Given the description of an element on the screen output the (x, y) to click on. 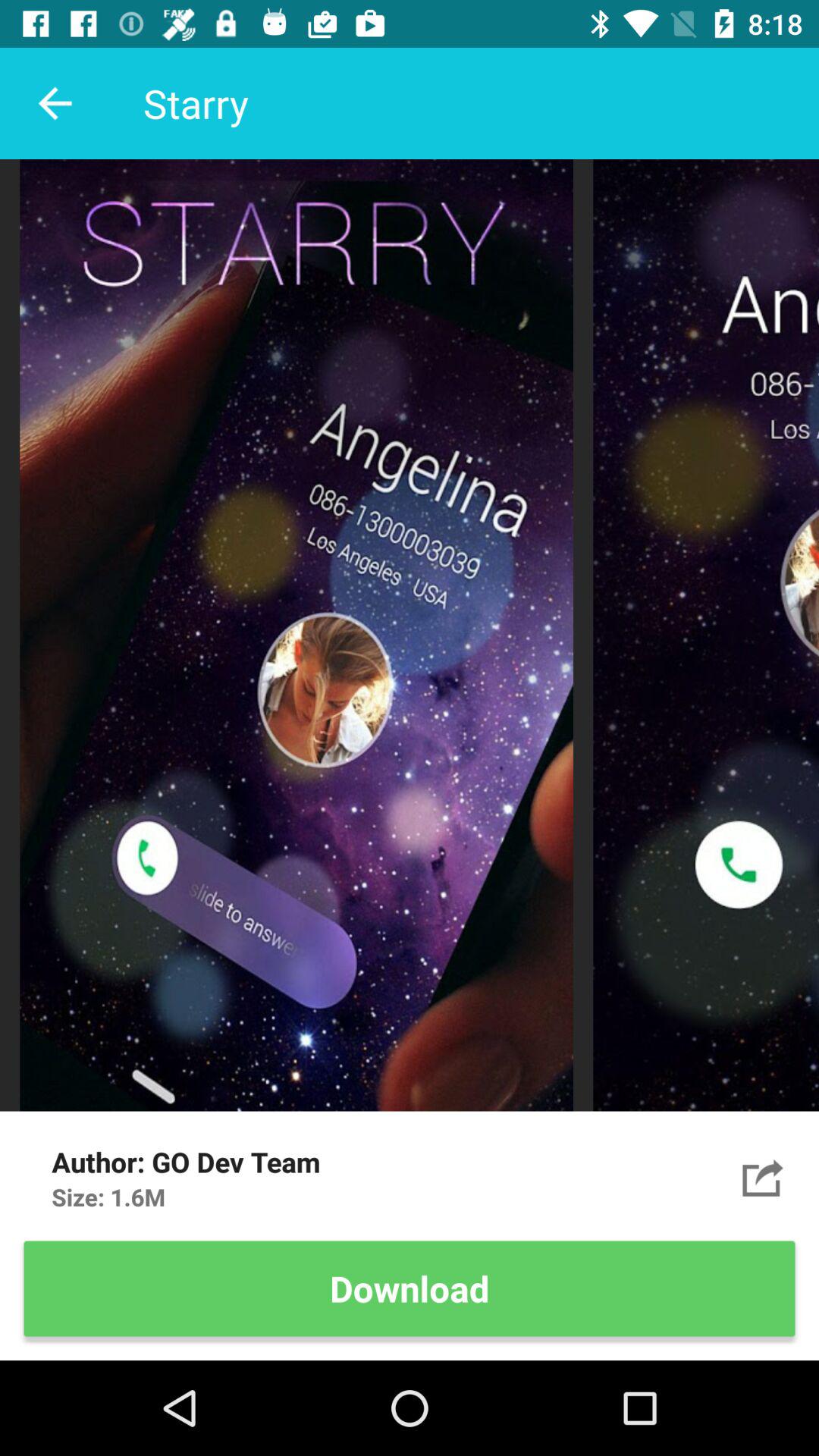
select icon below size: (409, 1288)
